Given the description of an element on the screen output the (x, y) to click on. 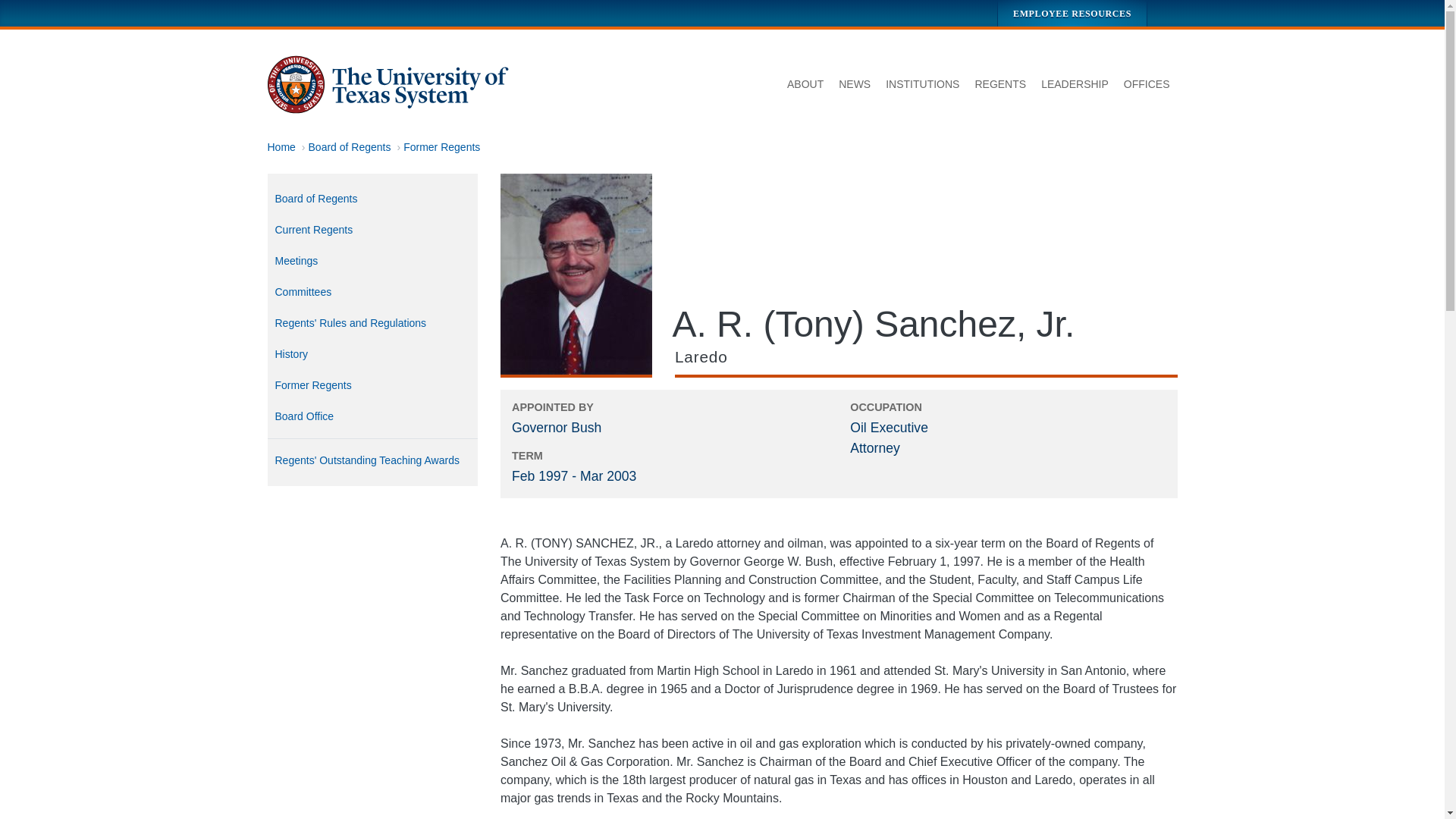
Former Regents (441, 146)
Current Regents (371, 229)
ABOUT (804, 84)
Board of Regents (349, 146)
Board Office (371, 416)
Regents' Outstanding Teaching Awards (371, 460)
Home (280, 146)
Current Regents (371, 229)
The University of Texas System (387, 84)
Regents' Rules and Regulations (371, 323)
NEWS (854, 84)
Board Committees (371, 291)
Committees (371, 291)
REGENTS (999, 84)
LEADERSHIP (1074, 84)
